Given the description of an element on the screen output the (x, y) to click on. 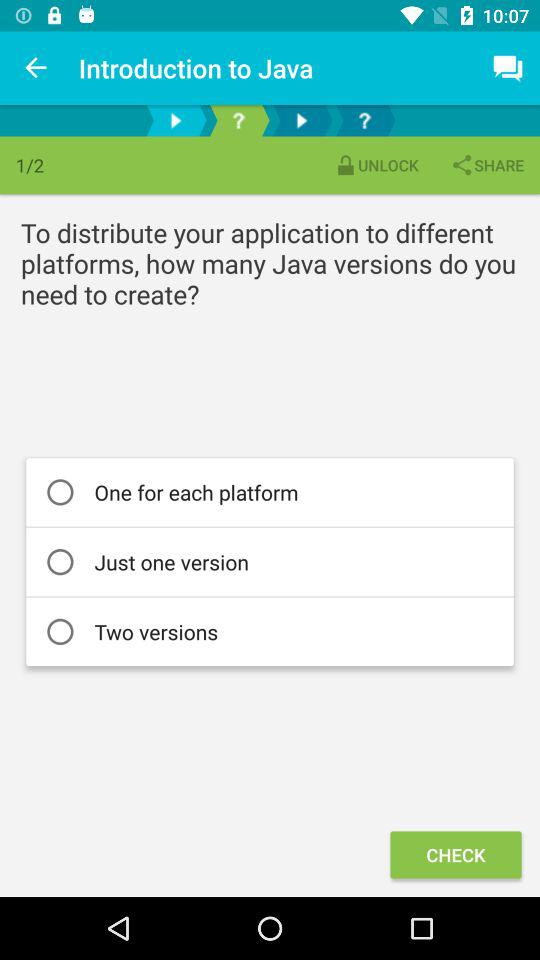
swipe until check item (455, 854)
